Given the description of an element on the screen output the (x, y) to click on. 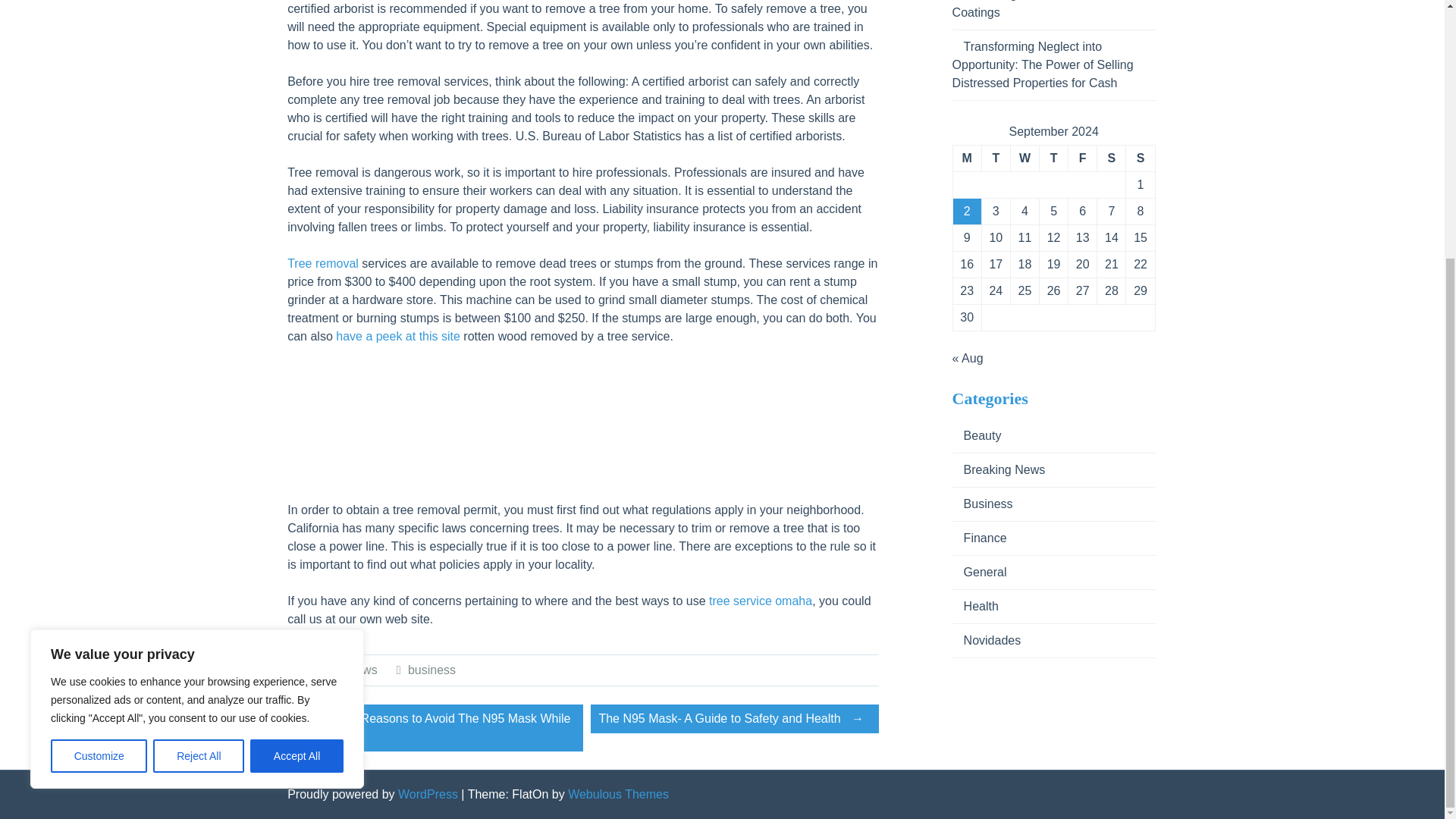
tree service omaha (760, 600)
Breaking News (336, 669)
Friday (1081, 158)
Tuesday (995, 158)
Reject All (198, 386)
business (431, 669)
Customize (98, 386)
Monday (966, 158)
Saturday (1110, 158)
Tree removal (322, 263)
